Given the description of an element on the screen output the (x, y) to click on. 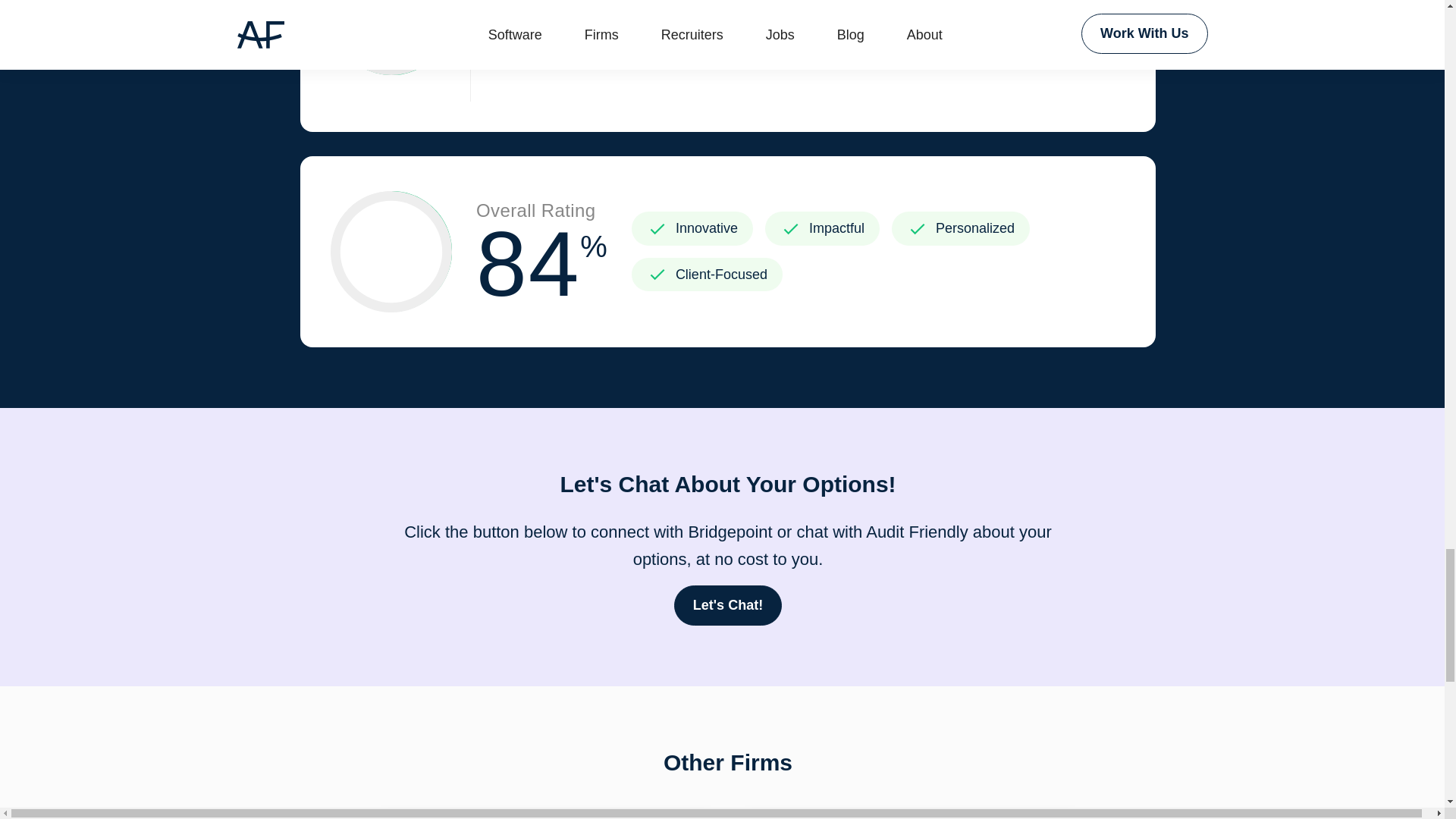
Let's Chat! (909, 814)
